Given the description of an element on the screen output the (x, y) to click on. 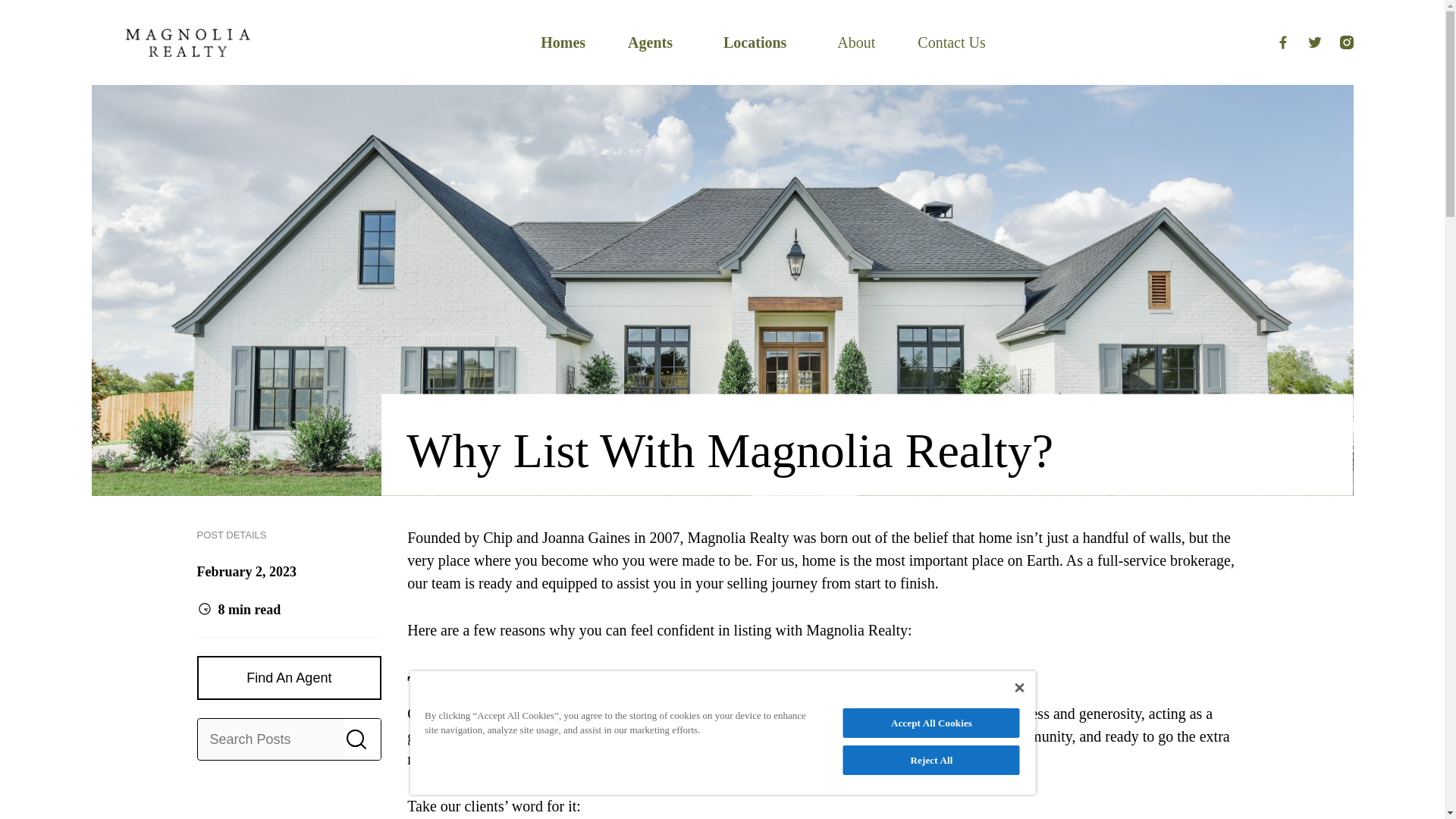
About (856, 41)
Homes (562, 41)
Contact Us (951, 41)
Agents (649, 41)
Locations (754, 41)
